Given the description of an element on the screen output the (x, y) to click on. 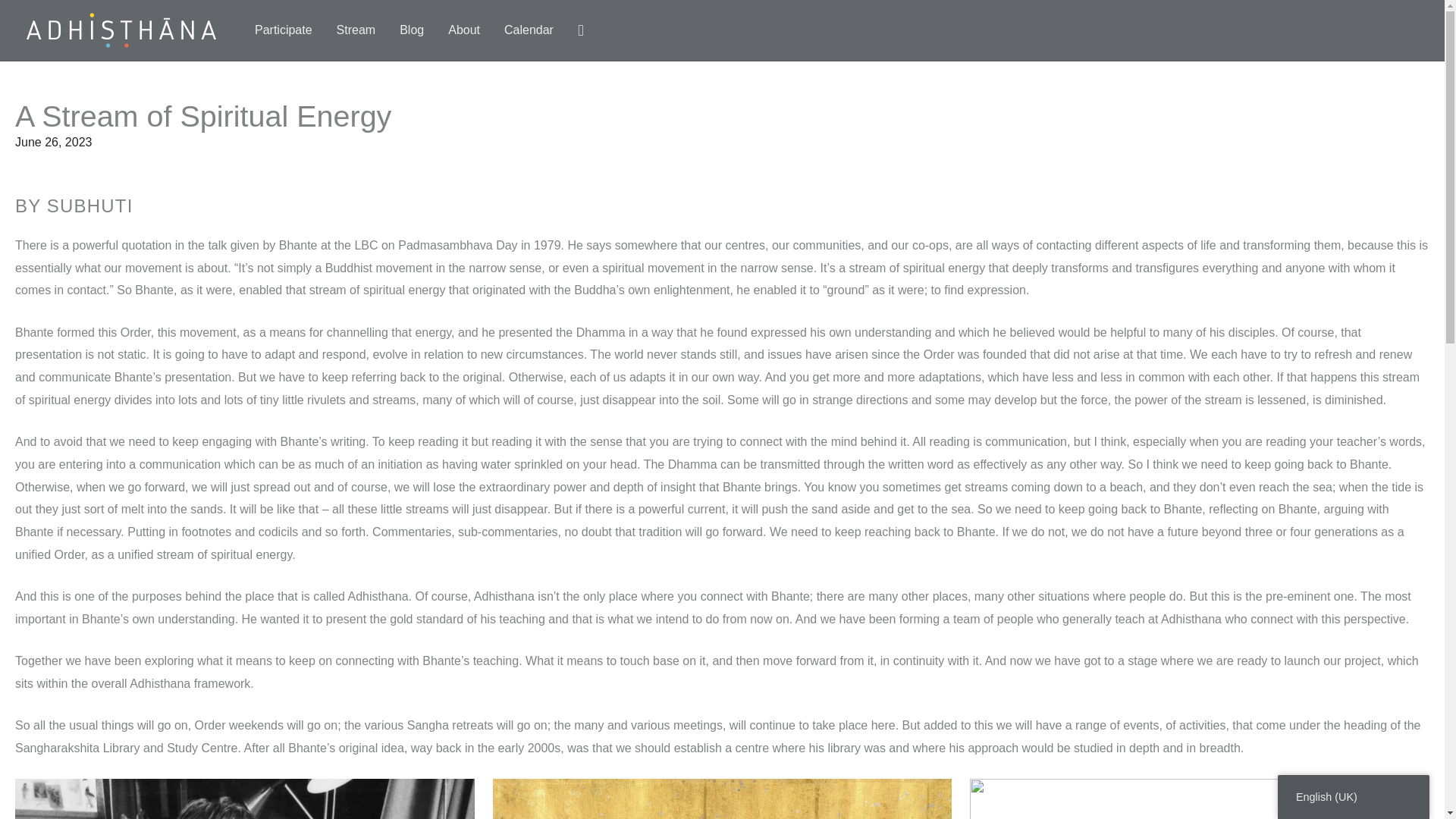
Participate (283, 30)
Calendar (529, 30)
About (463, 30)
Stream (356, 30)
